Given the description of an element on the screen output the (x, y) to click on. 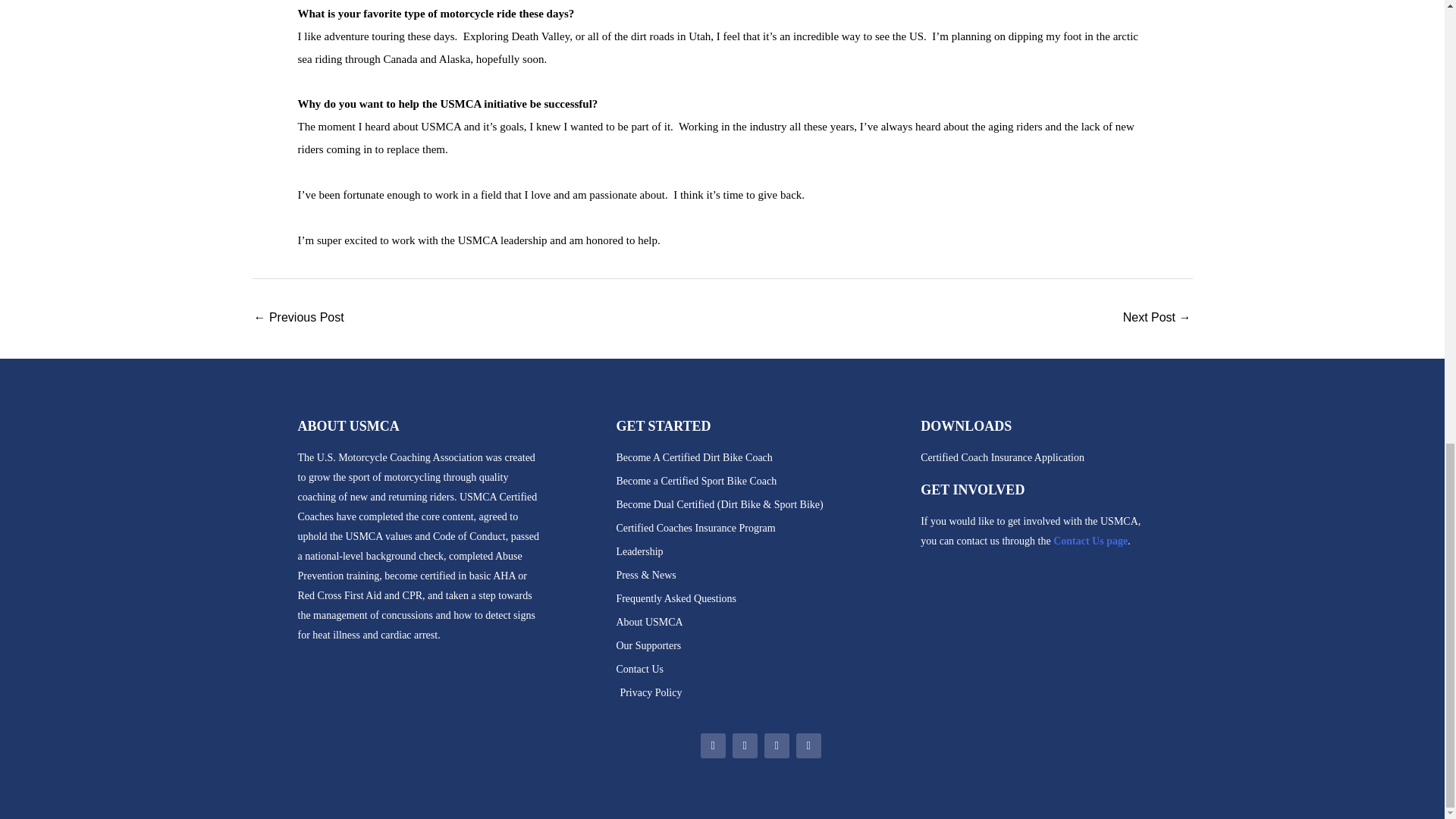
Dunlop Joins the USMCA as Official Tire Partner (298, 318)
Become A Certified Dirt Bike Coach (760, 457)
Update from AIMExpo 2018 (1156, 318)
